Given the description of an element on the screen output the (x, y) to click on. 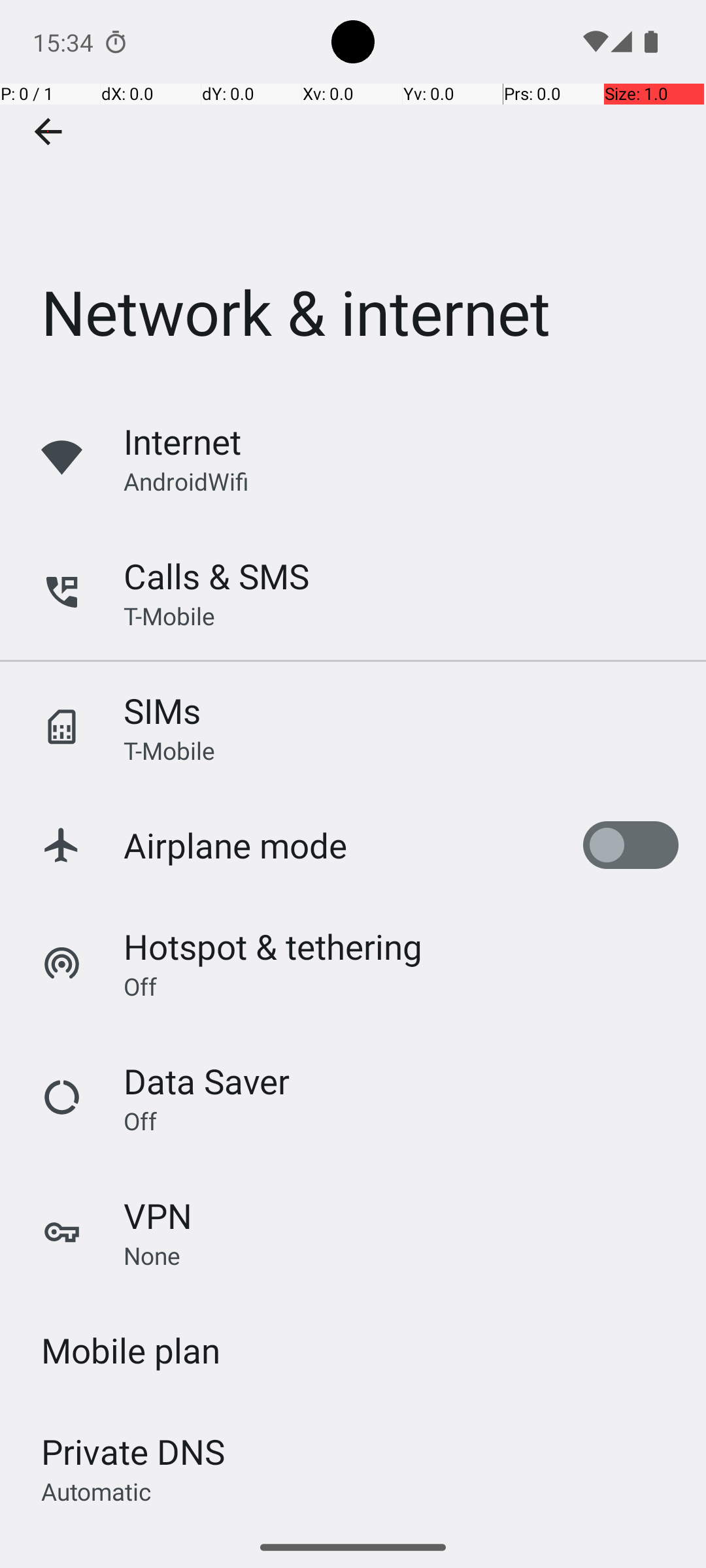
AndroidWifi Element type: android.widget.TextView (186, 480)
